Given the description of an element on the screen output the (x, y) to click on. 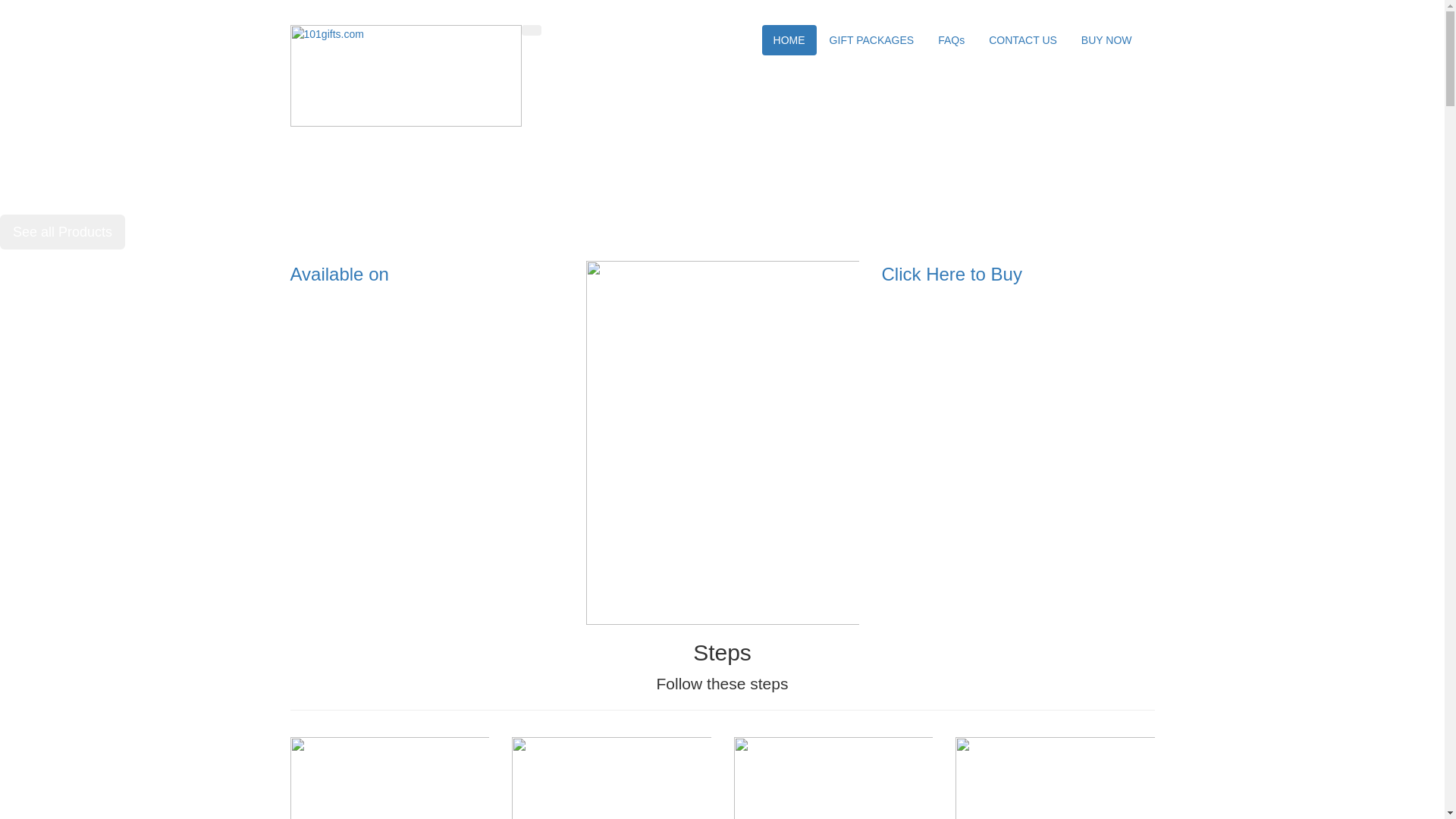
HOME Element type: text (789, 40)
GIFT PACKAGES Element type: text (871, 40)
See all Products Element type: text (62, 231)
See all Products Element type: text (62, 231)
BUY NOW Element type: text (1106, 40)
Click Here to Buy Element type: text (951, 273)
CONTACT US Element type: text (1022, 40)
FAQs Element type: text (950, 40)
Available on Element type: text (338, 273)
